Given the description of an element on the screen output the (x, y) to click on. 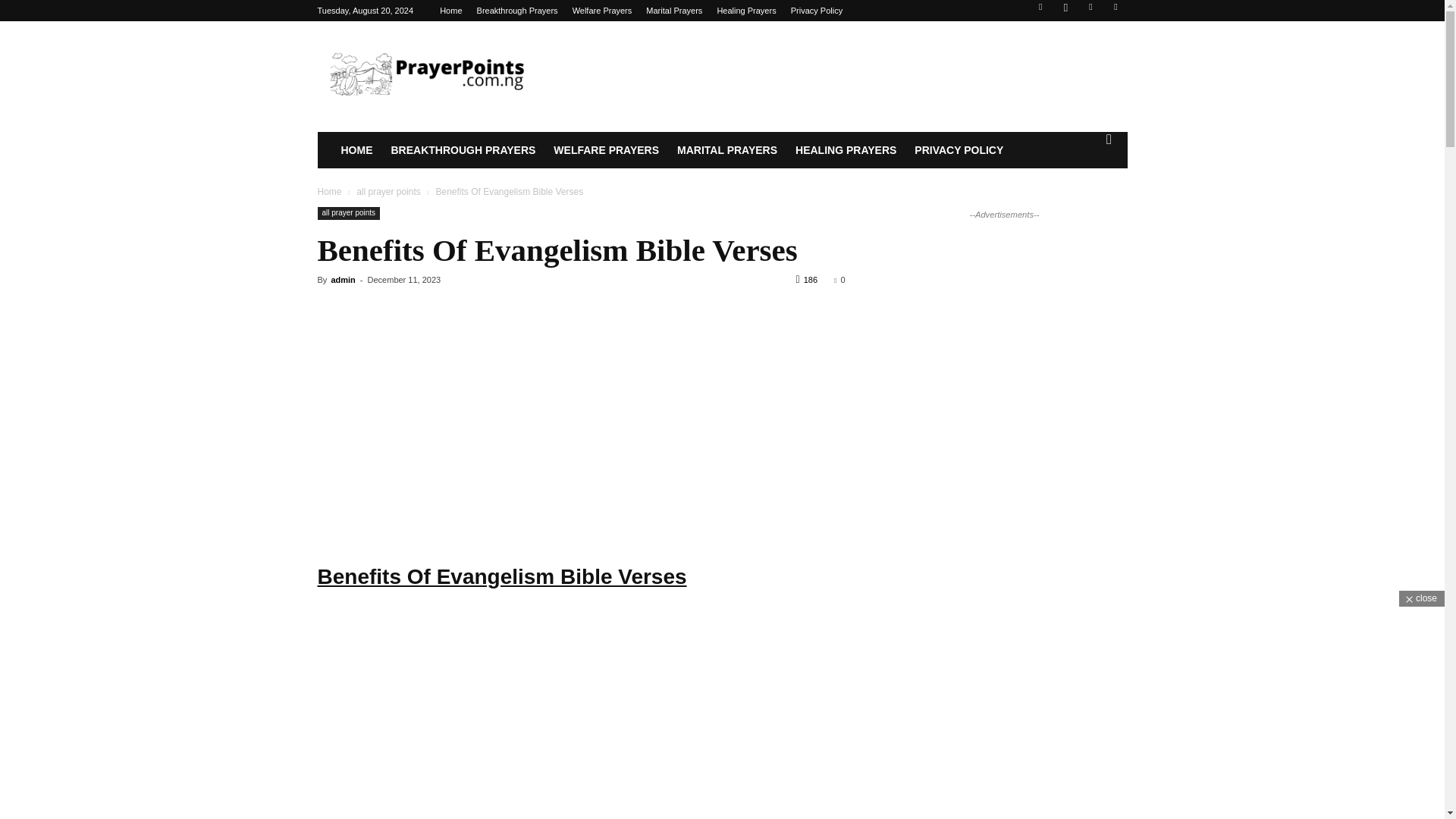
Advertisement (580, 425)
Advertisement (580, 736)
Youtube (1114, 11)
Facebook (1040, 11)
Twitter (1090, 11)
Instagram (1065, 11)
View all posts in all prayer points (388, 191)
